Given the description of an element on the screen output the (x, y) to click on. 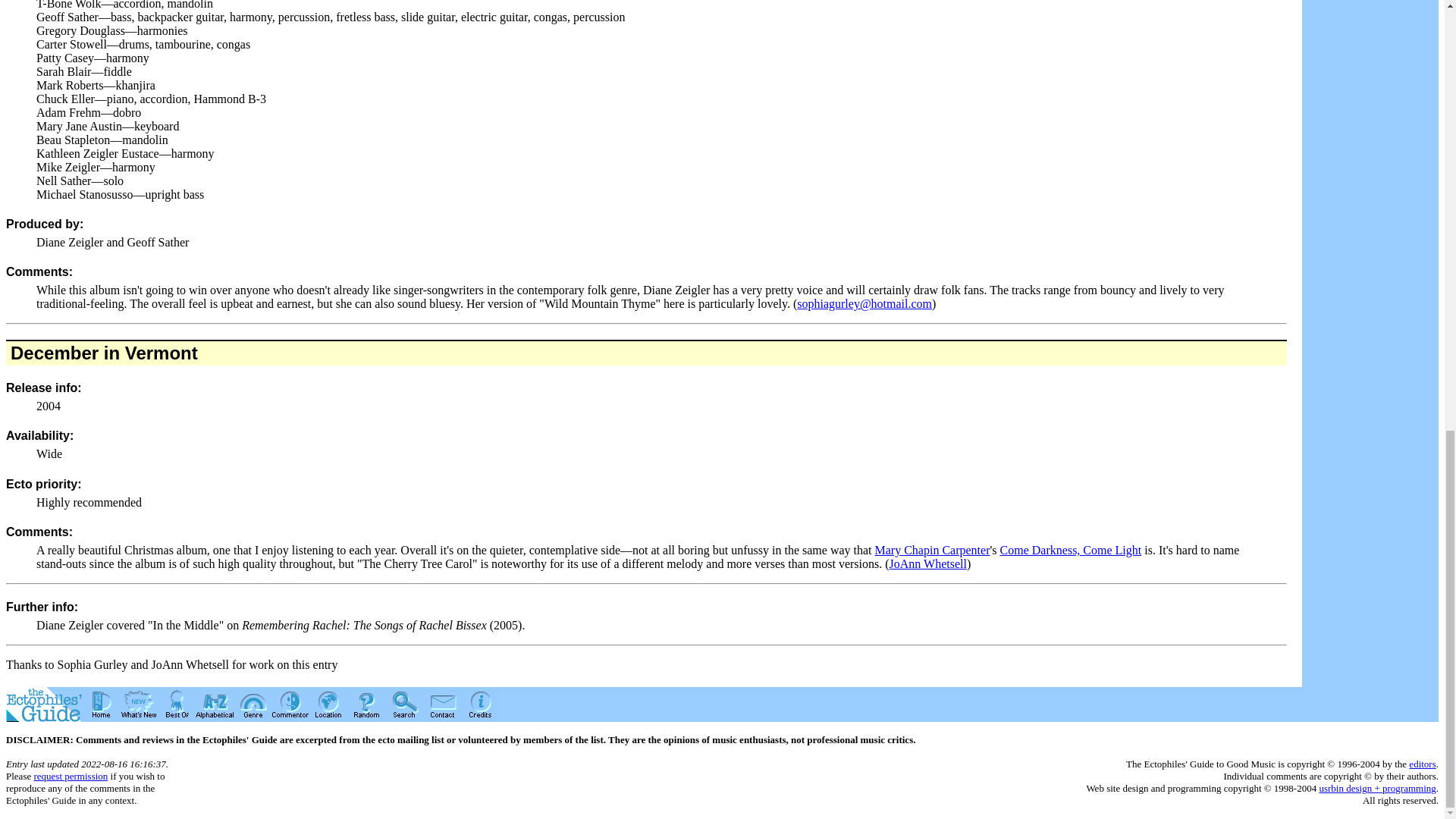
December in Vermont (104, 353)
Come Darkness, Come Light (1070, 549)
Mary Chapin Carpenter (932, 549)
JoAnn Whetsell (927, 563)
